Given the description of an element on the screen output the (x, y) to click on. 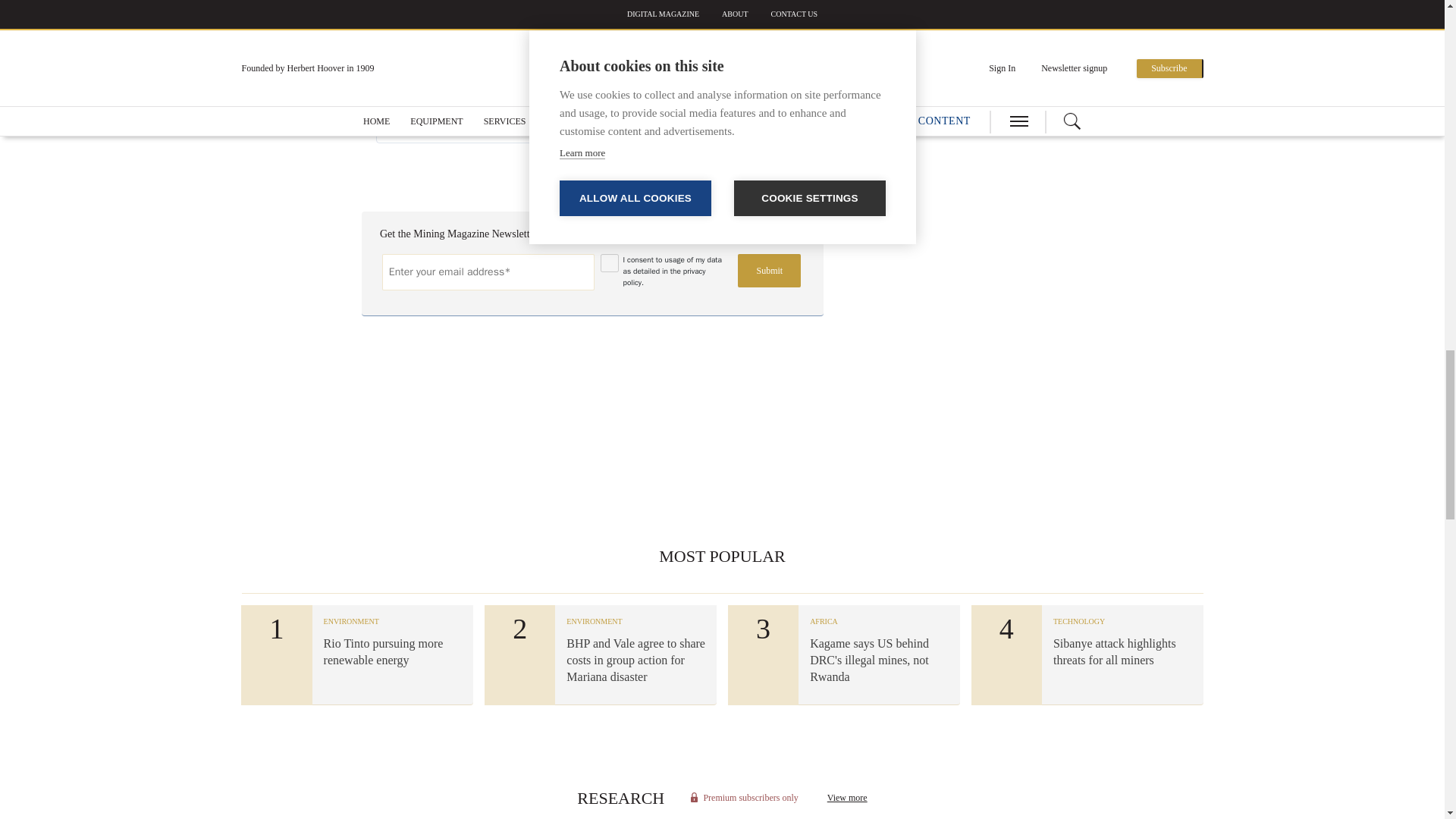
true (608, 262)
Submit (769, 270)
